Given the description of an element on the screen output the (x, y) to click on. 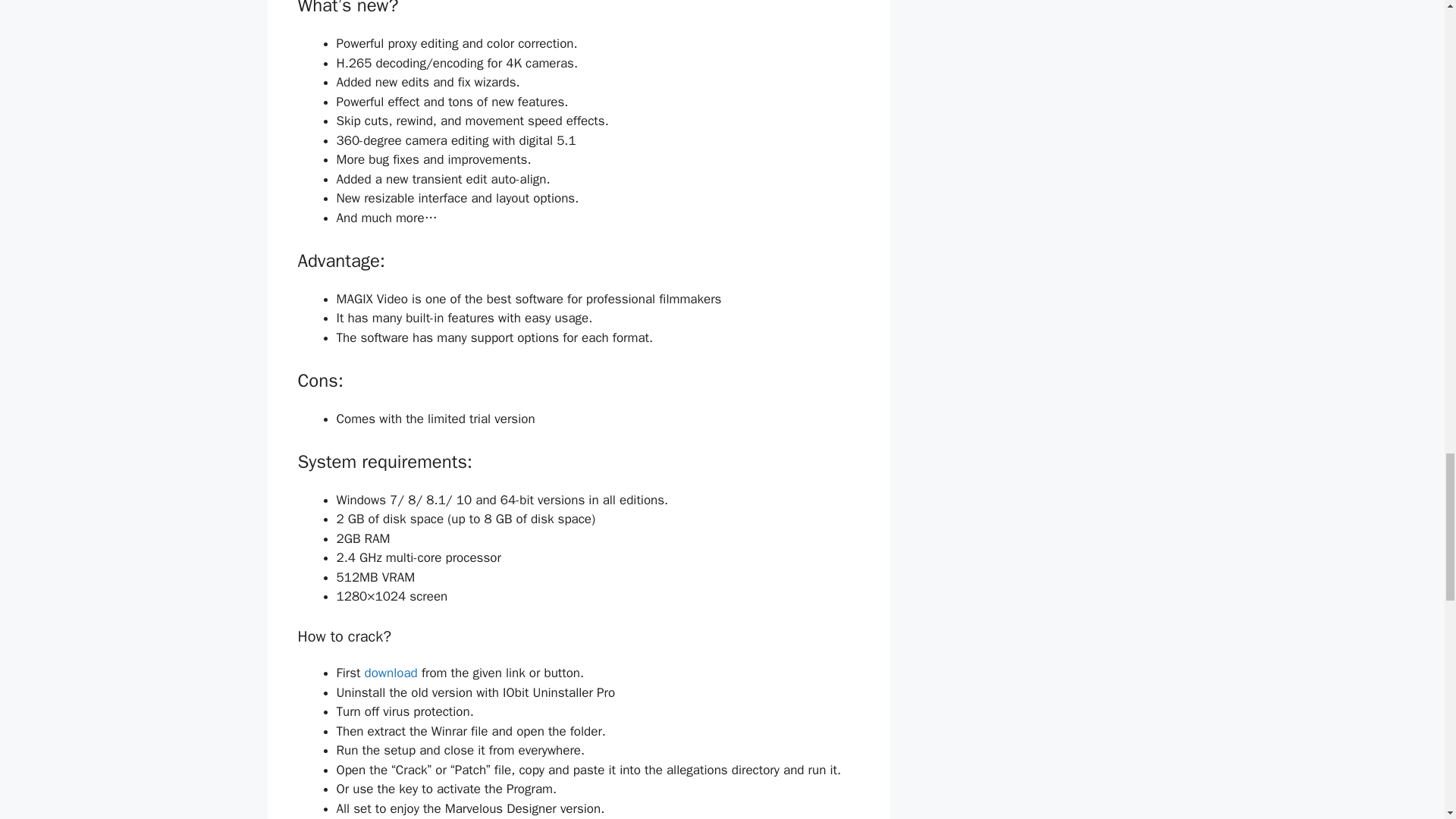
download (391, 672)
